Given the description of an element on the screen output the (x, y) to click on. 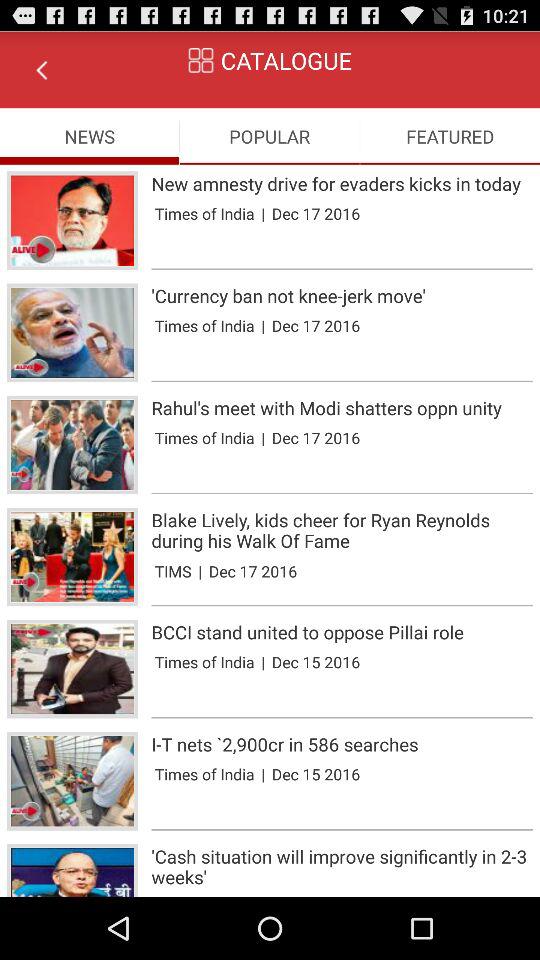
turn off the tims app (172, 570)
